Given the description of an element on the screen output the (x, y) to click on. 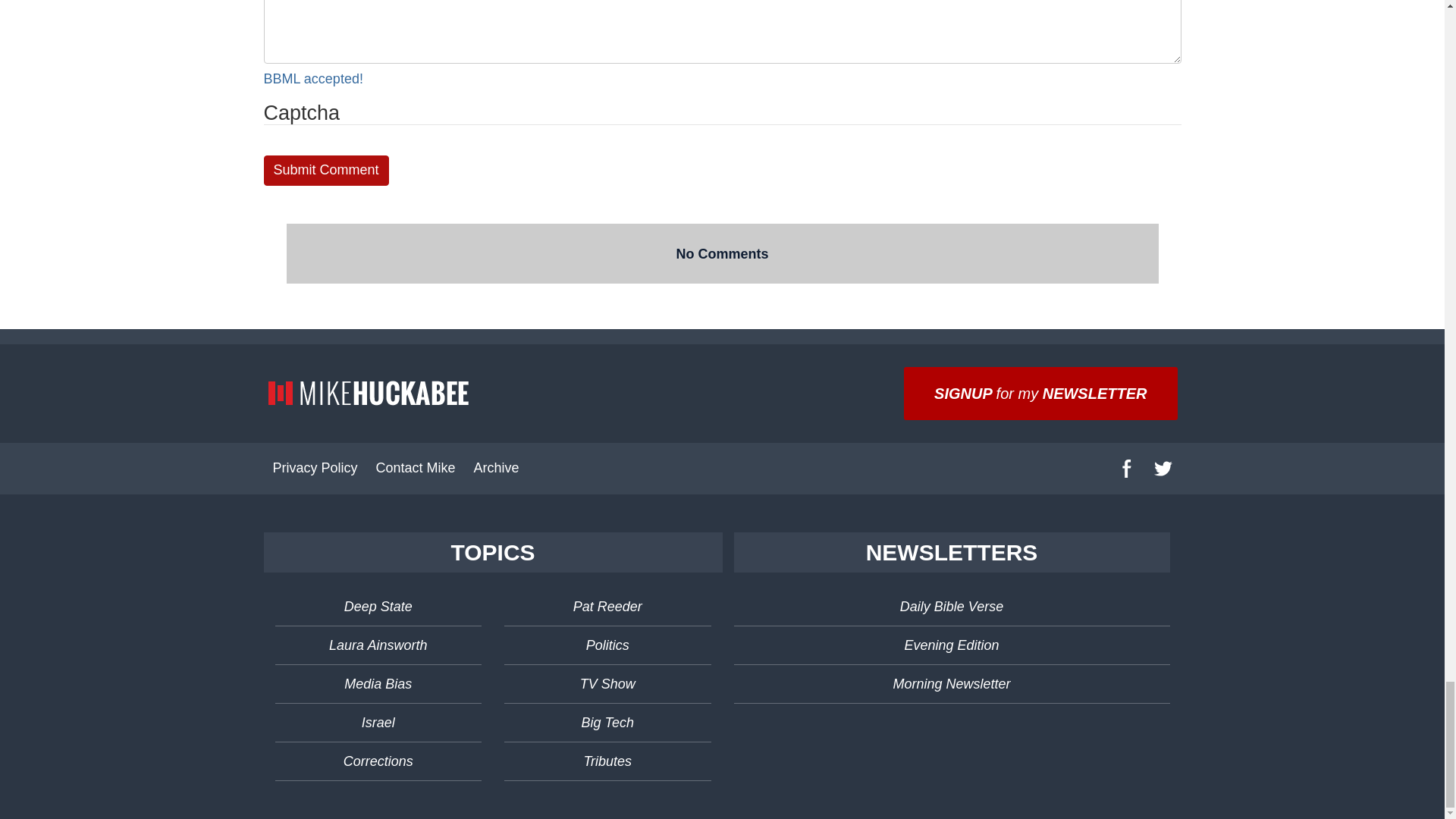
Submit Comment (325, 170)
SIGNUP for my NEWSLETTER (1040, 393)
Submit Comment (325, 170)
Facebook (1126, 468)
Facebook Icon (1126, 468)
Twitter Icon (1163, 468)
Twitter (1162, 468)
